Given the description of an element on the screen output the (x, y) to click on. 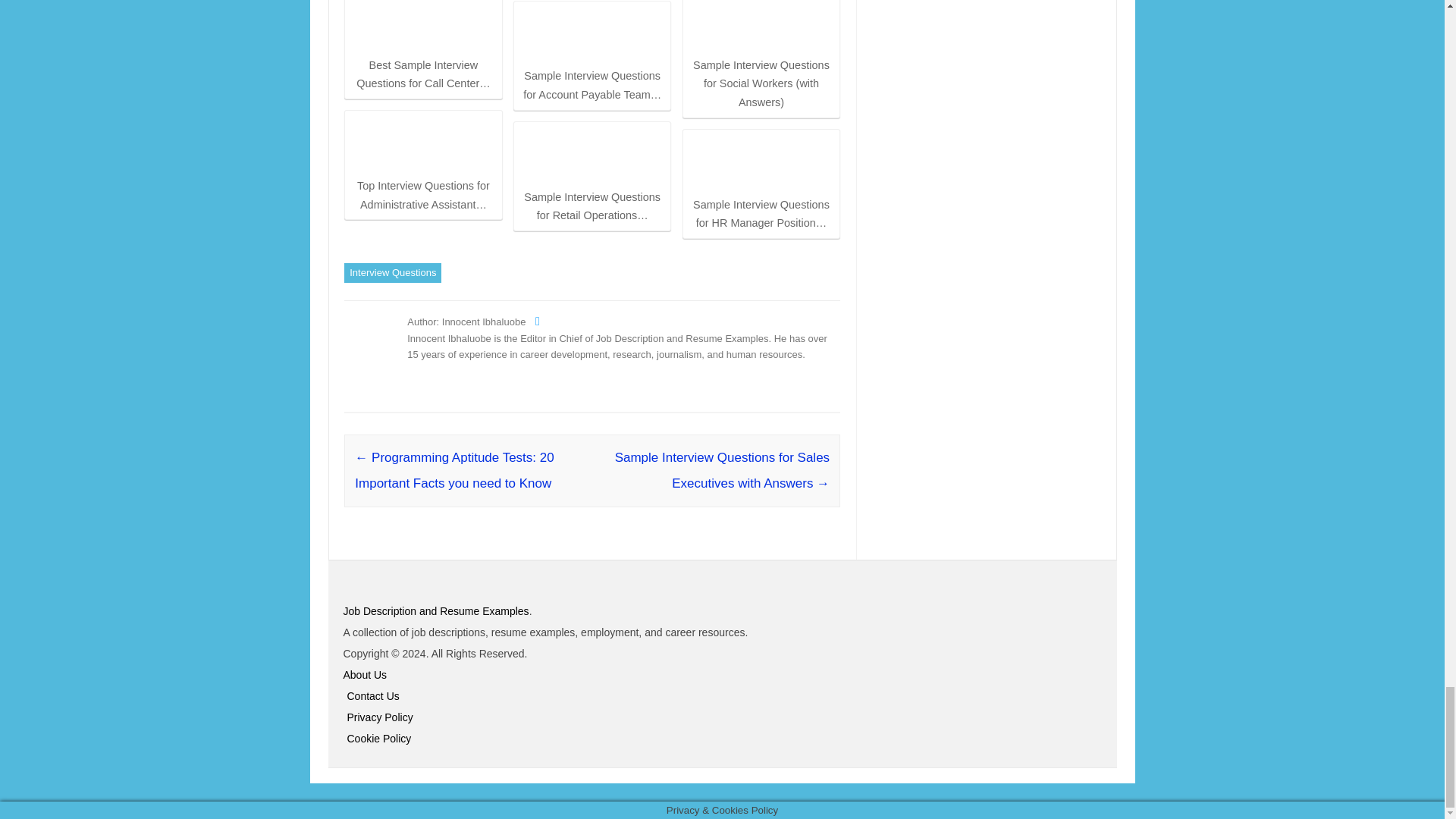
Interview Questions (392, 272)
